Given the description of an element on the screen output the (x, y) to click on. 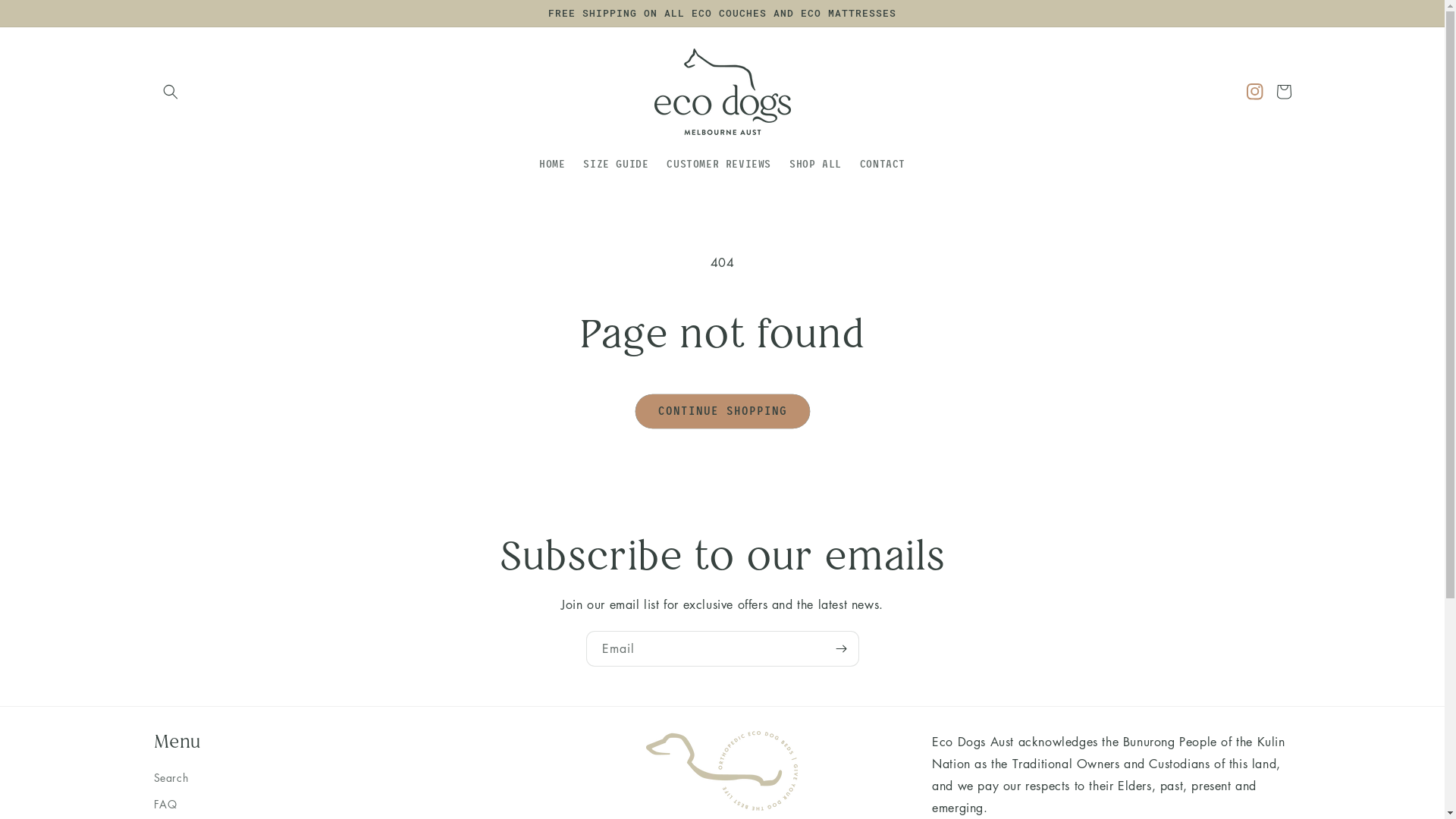
CONTINUE SHOPPING Element type: text (722, 411)
SIZE GUIDE Element type: text (615, 164)
HOME Element type: text (552, 164)
Instagram Element type: text (1254, 90)
FAQ Element type: text (164, 803)
CONTACT Element type: text (882, 164)
Search Element type: text (170, 779)
CUSTOMER REVIEWS Element type: text (718, 164)
SHOP ALL Element type: text (815, 164)
Cart Element type: text (1282, 90)
